Given the description of an element on the screen output the (x, y) to click on. 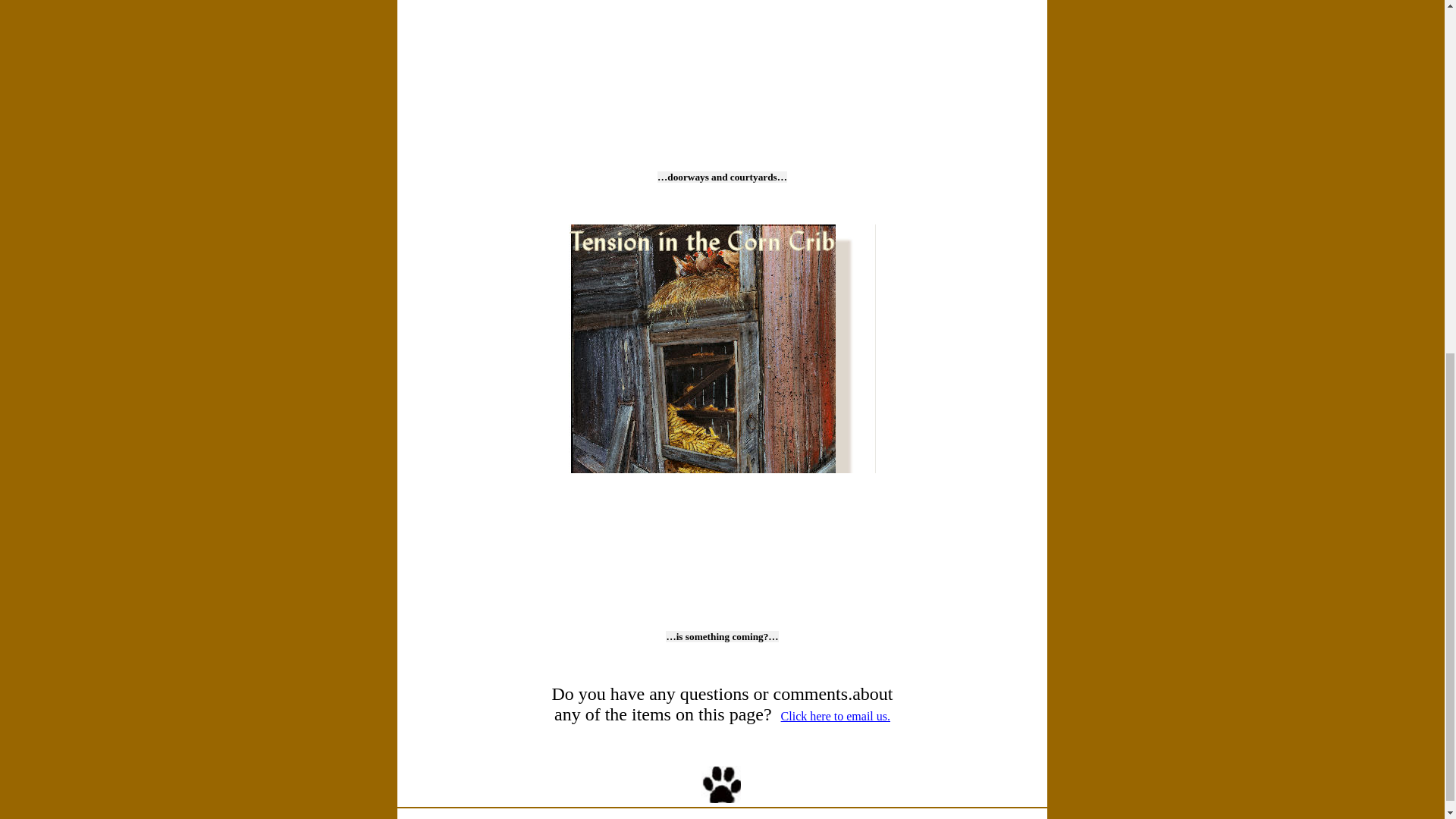
Click here to email us. (834, 716)
